Given the description of an element on the screen output the (x, y) to click on. 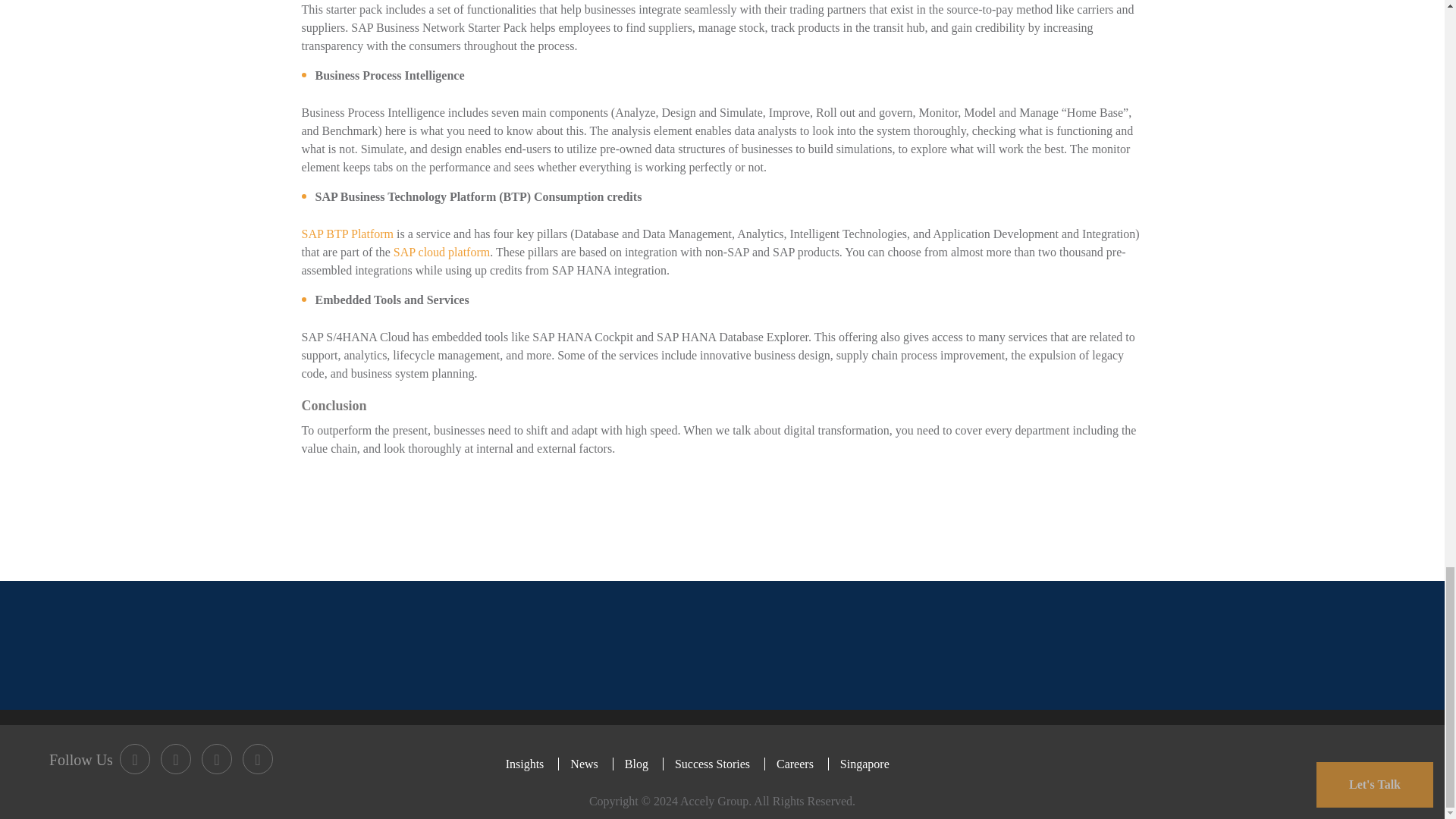
Linkedin (258, 758)
Careers (794, 763)
SAP cloud platform (441, 251)
News (582, 763)
Insights (530, 763)
Blog (635, 763)
Twitter (175, 758)
Singapore (864, 763)
SAP BTP Platform (347, 233)
Success Stories (711, 763)
Facebook (134, 758)
Linkedin (216, 758)
